Given the description of an element on the screen output the (x, y) to click on. 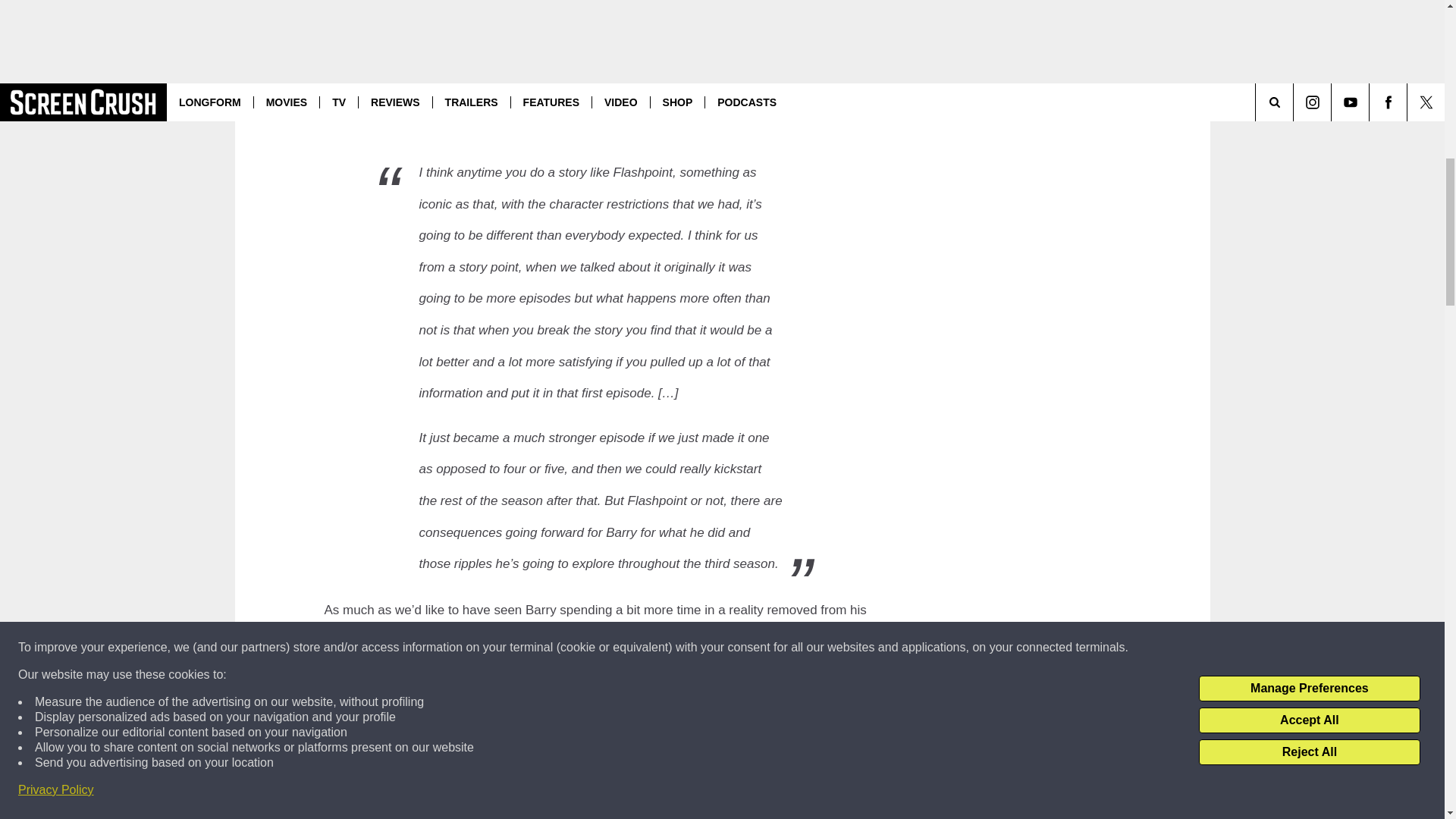
ComicBook.com (639, 88)
join the Arrow and Flash universe full-time (454, 814)
Supergirl (754, 792)
Arrow (596, 658)
Aquaman (512, 64)
Legends of Tomorrow (702, 658)
Wonder Woman (614, 64)
